Given the description of an element on the screen output the (x, y) to click on. 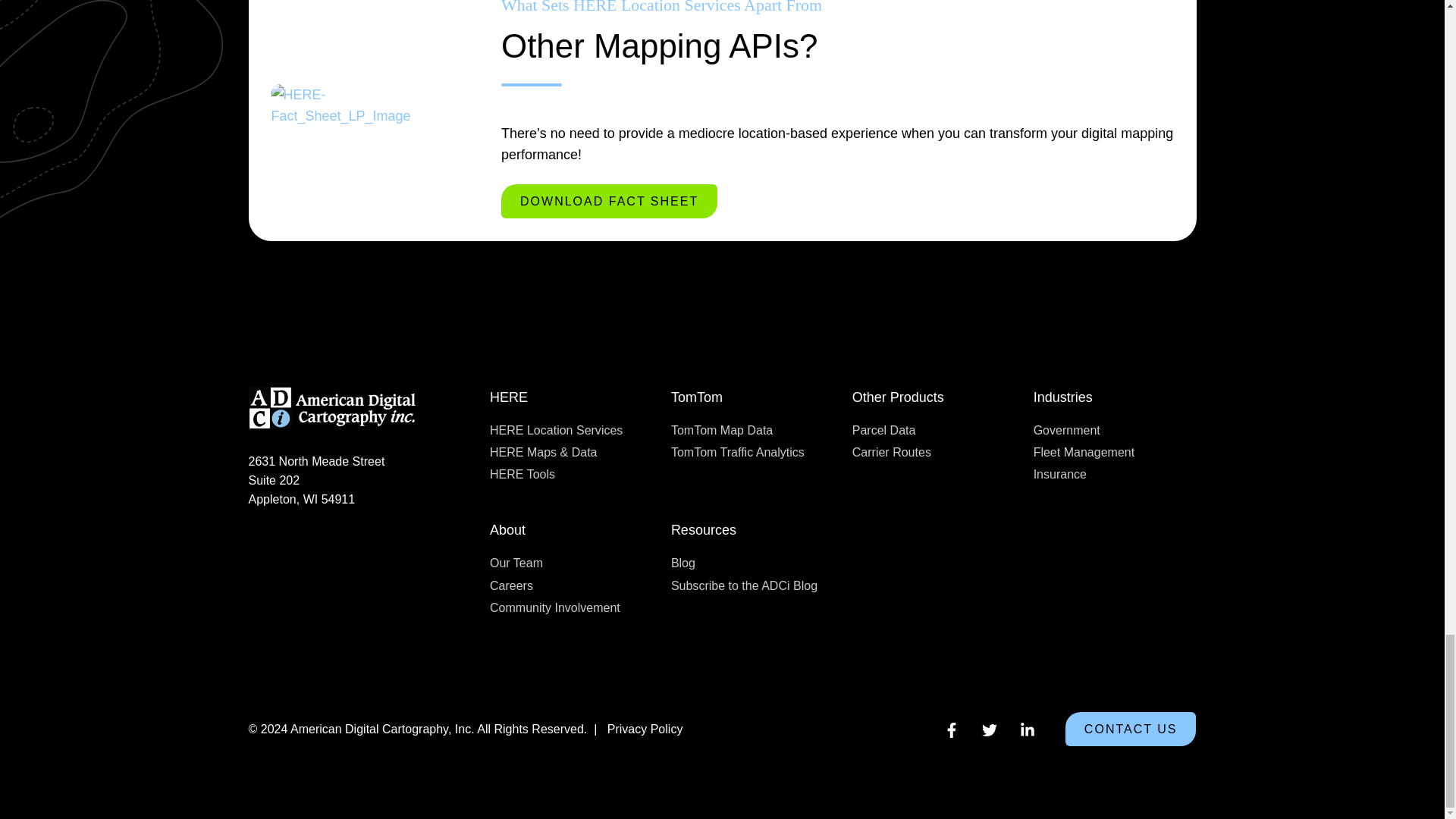
adci-logo-full (331, 407)
